Given the description of an element on the screen output the (x, y) to click on. 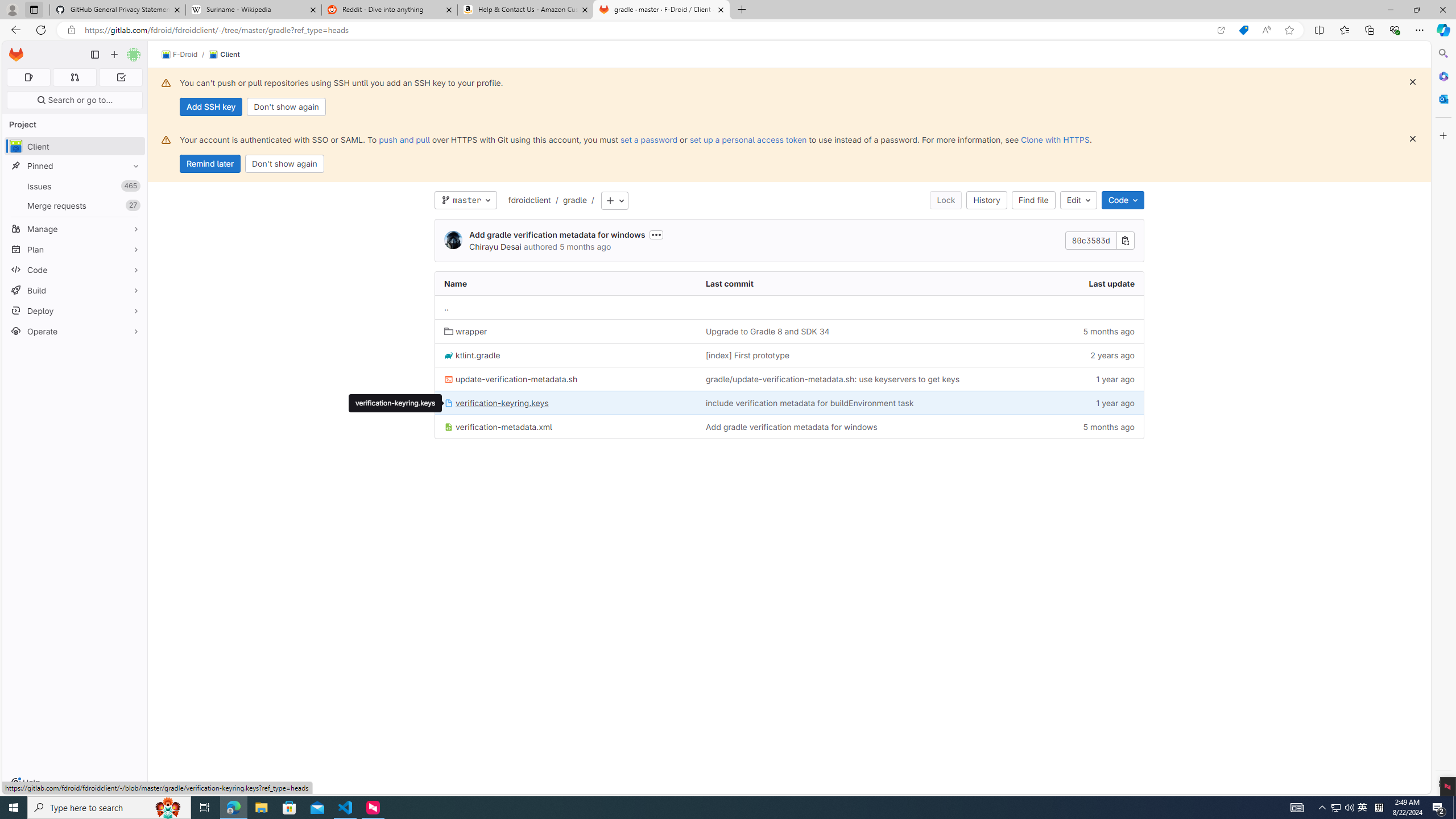
Code (1122, 199)
GitHub General Privacy Statement - GitHub Docs (117, 9)
verification-metadata.xml (497, 426)
F-Droid (179, 54)
Build (74, 289)
Upgrade to Gradle 8 and SDK 34 (766, 331)
Toggle commit description (656, 234)
Last commit (853, 283)
